Given the description of an element on the screen output the (x, y) to click on. 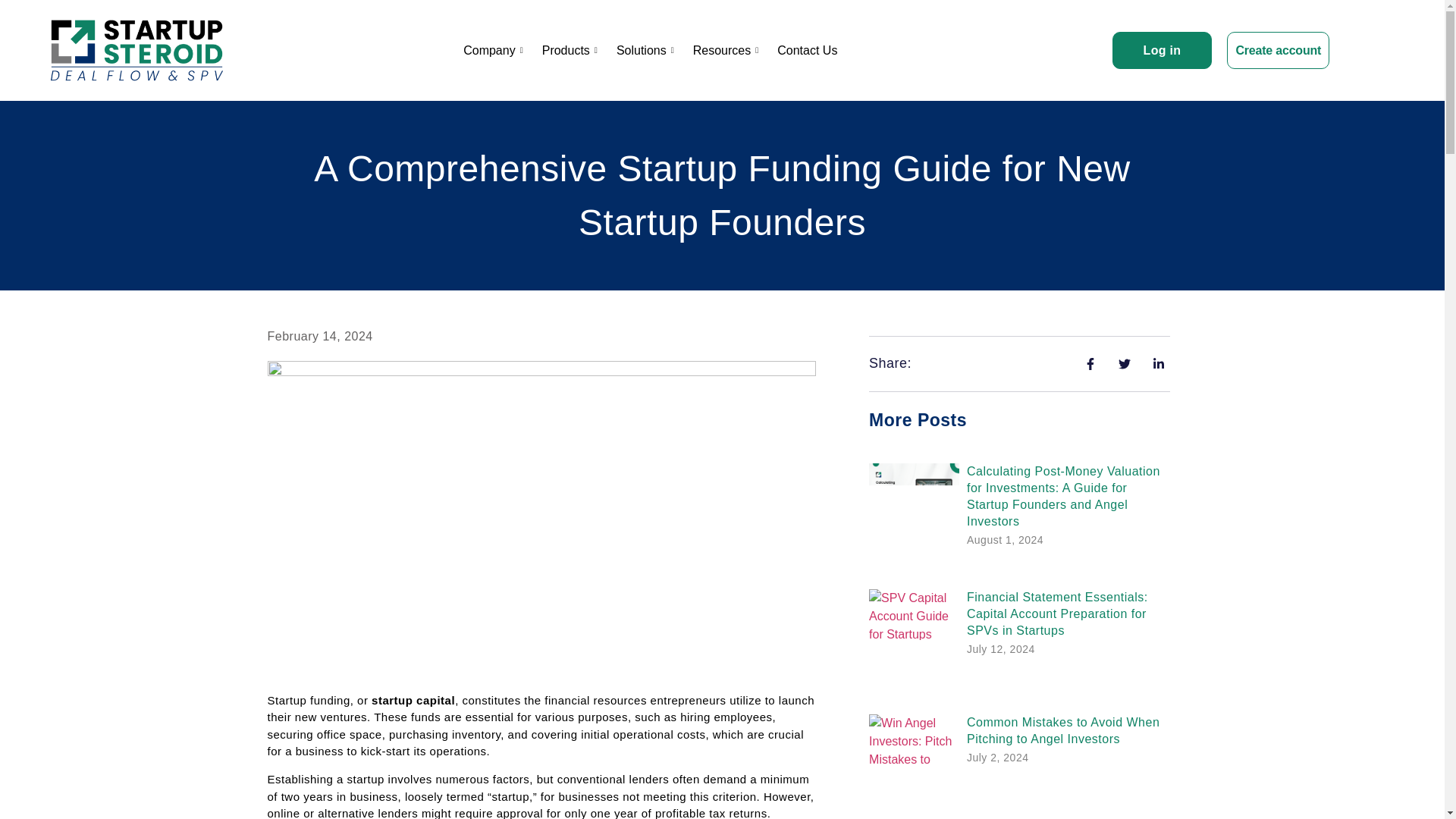
Solutions (646, 50)
Products (571, 50)
Company (494, 50)
Contact Us (807, 50)
Resources (727, 50)
